Given the description of an element on the screen output the (x, y) to click on. 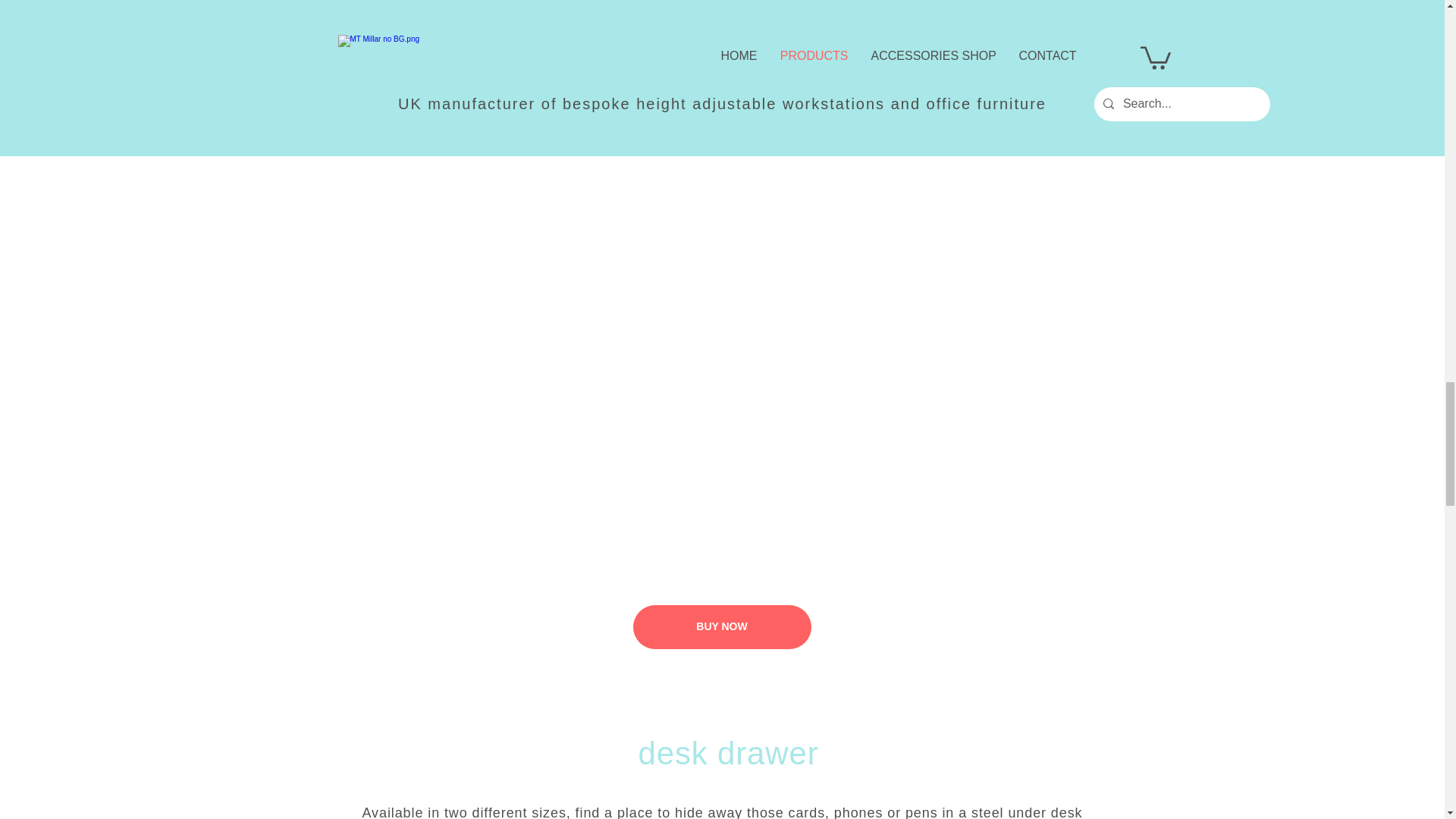
BUY NOW (720, 627)
